Given the description of an element on the screen output the (x, y) to click on. 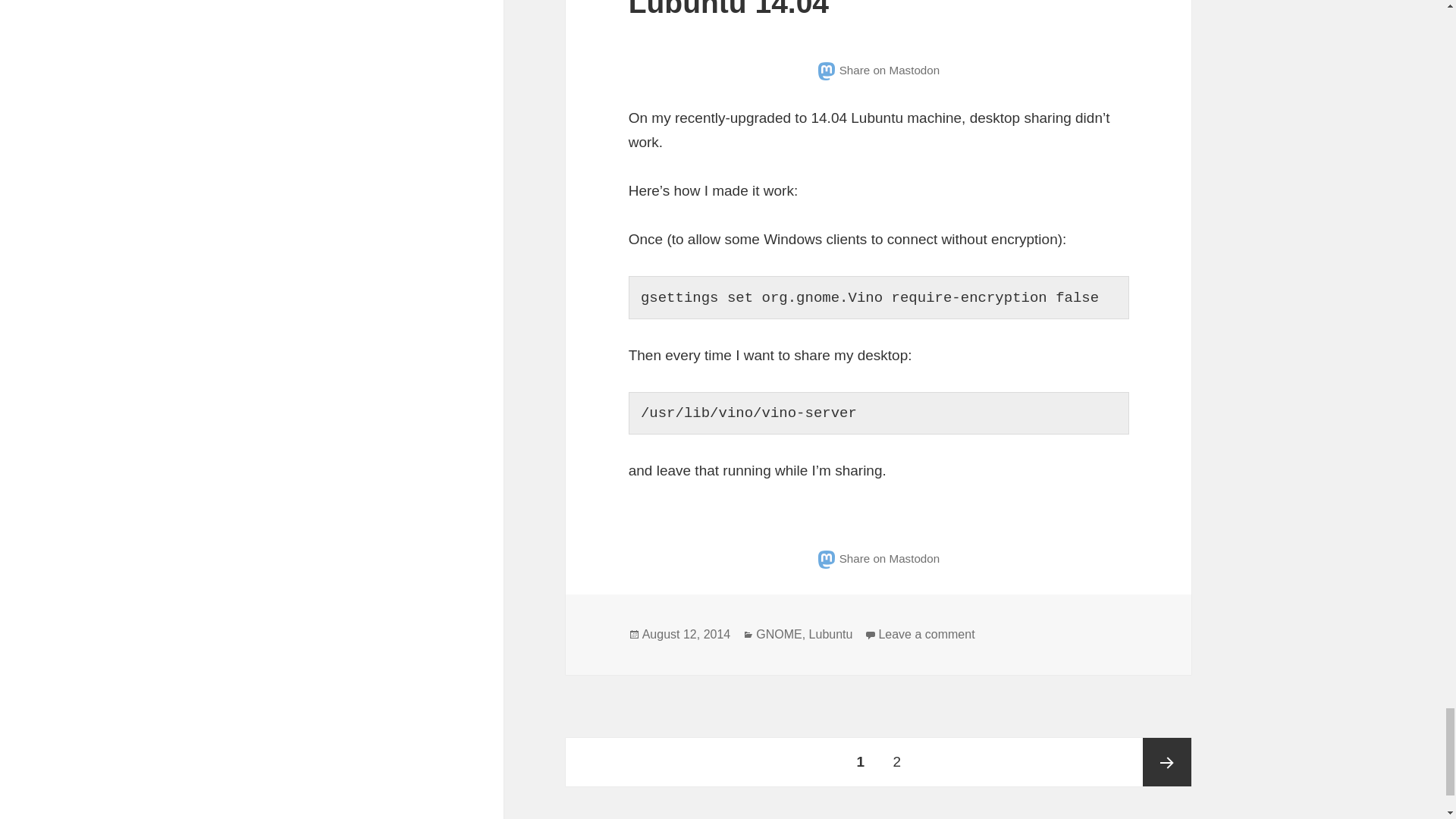
Toot on Mastodon (877, 558)
Toot on Mastodon (877, 69)
